Given the description of an element on the screen output the (x, y) to click on. 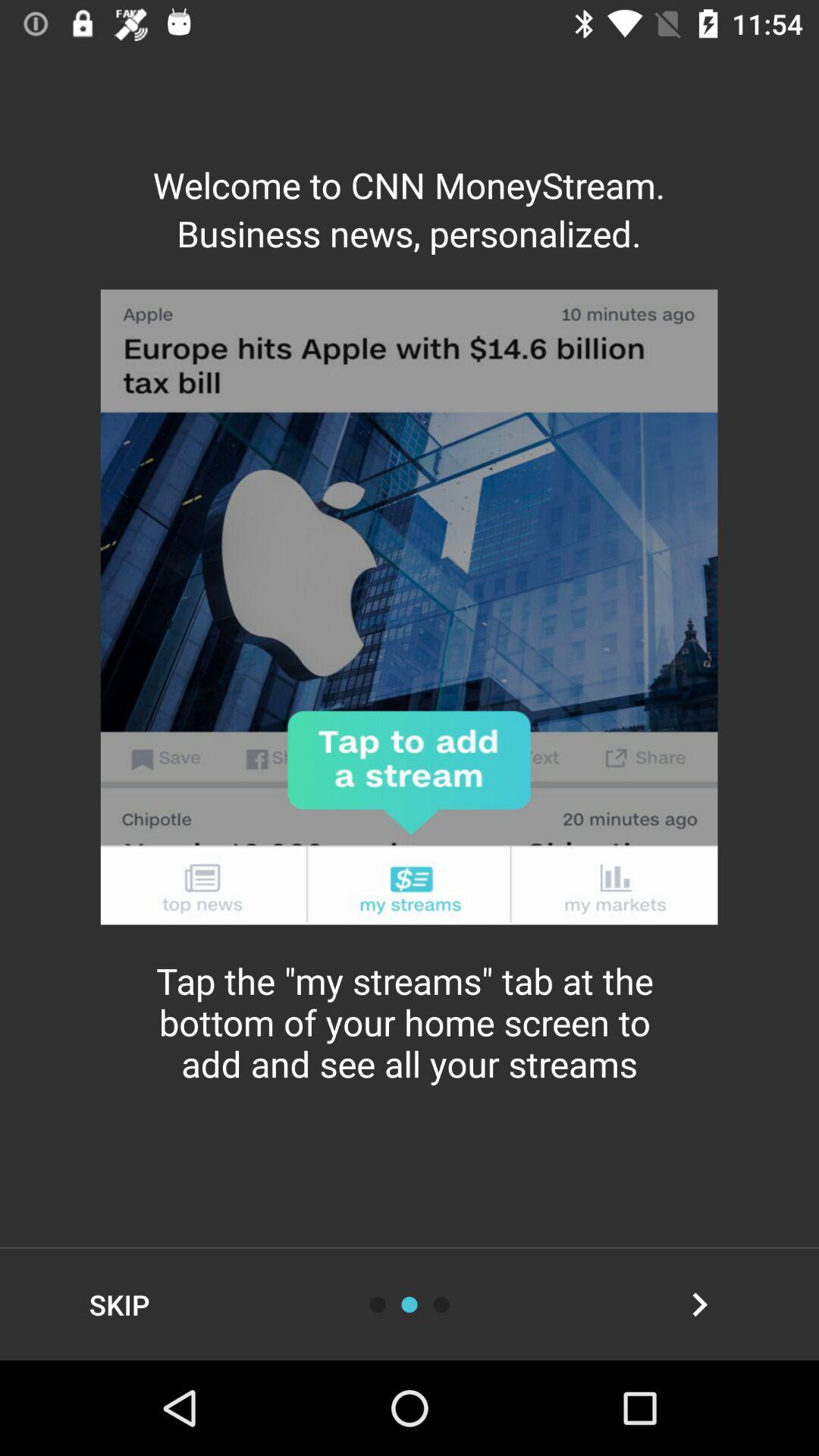
jump until skip (119, 1304)
